Given the description of an element on the screen output the (x, y) to click on. 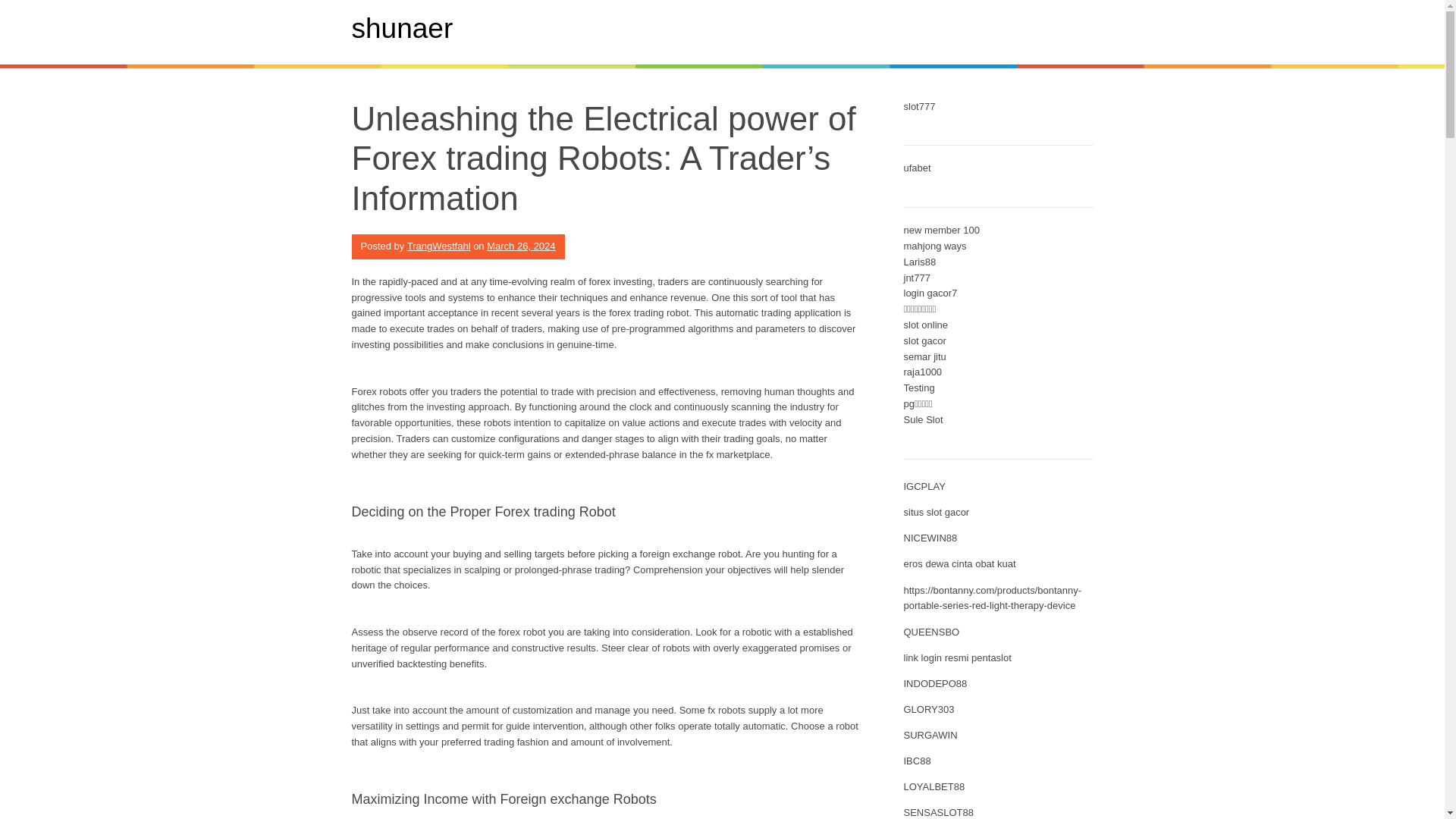
SENSASLOT88 (939, 812)
situs slot gacor (936, 511)
eros dewa cinta obat kuat (960, 563)
new member 100 (941, 229)
GLORY303 (929, 708)
SURGAWIN (931, 735)
login gacor7 (931, 292)
jnt777 (917, 277)
NICEWIN88 (931, 537)
slot online (926, 324)
INDODEPO88 (936, 683)
slot777 (920, 106)
IGCPLAY (924, 486)
TrangWestfahl (438, 245)
shunaer (402, 28)
